Given the description of an element on the screen output the (x, y) to click on. 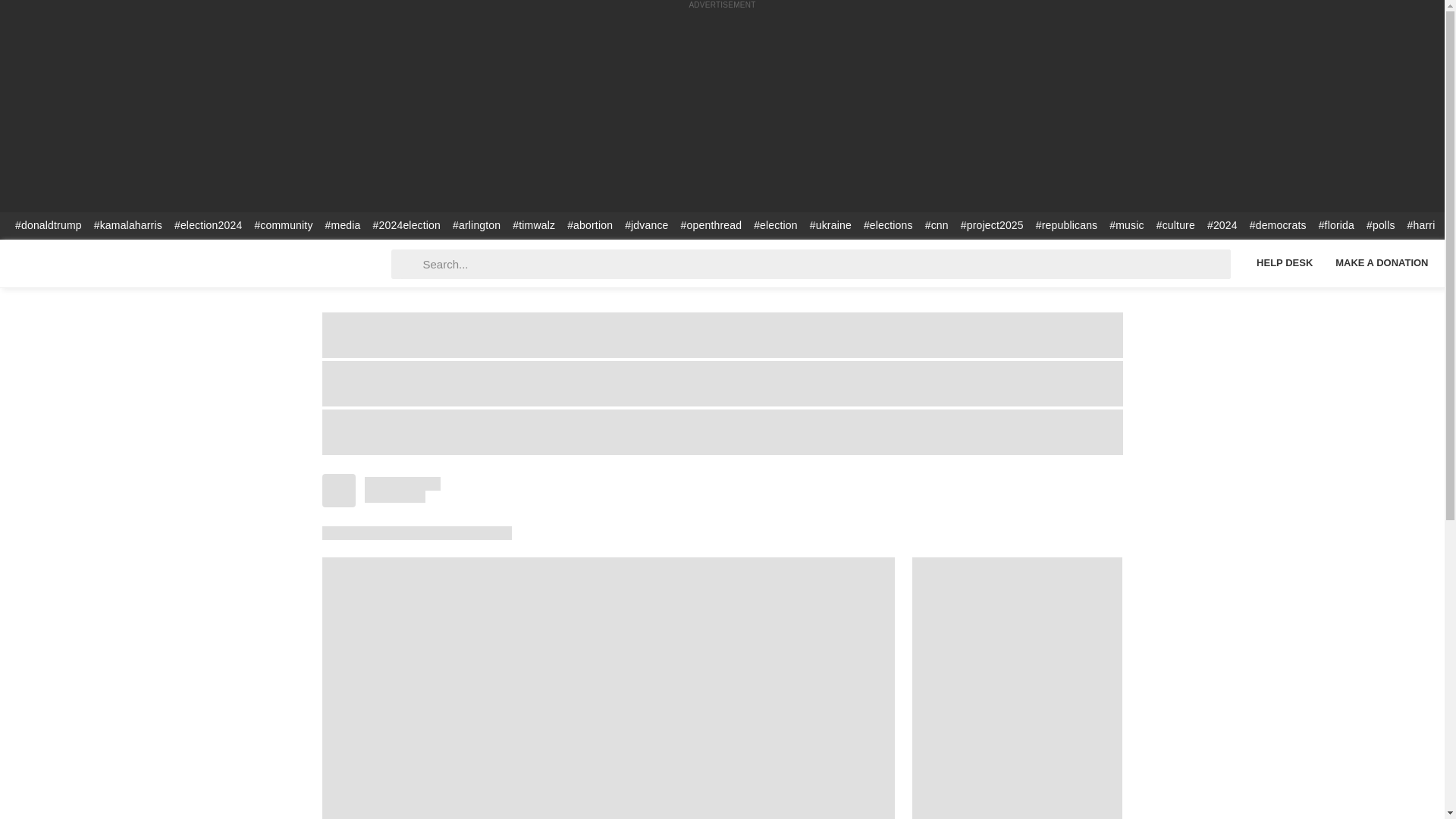
Make a Donation (1381, 262)
Help Desk (1283, 262)
MAKE A DONATION (1381, 262)
